Given the description of an element on the screen output the (x, y) to click on. 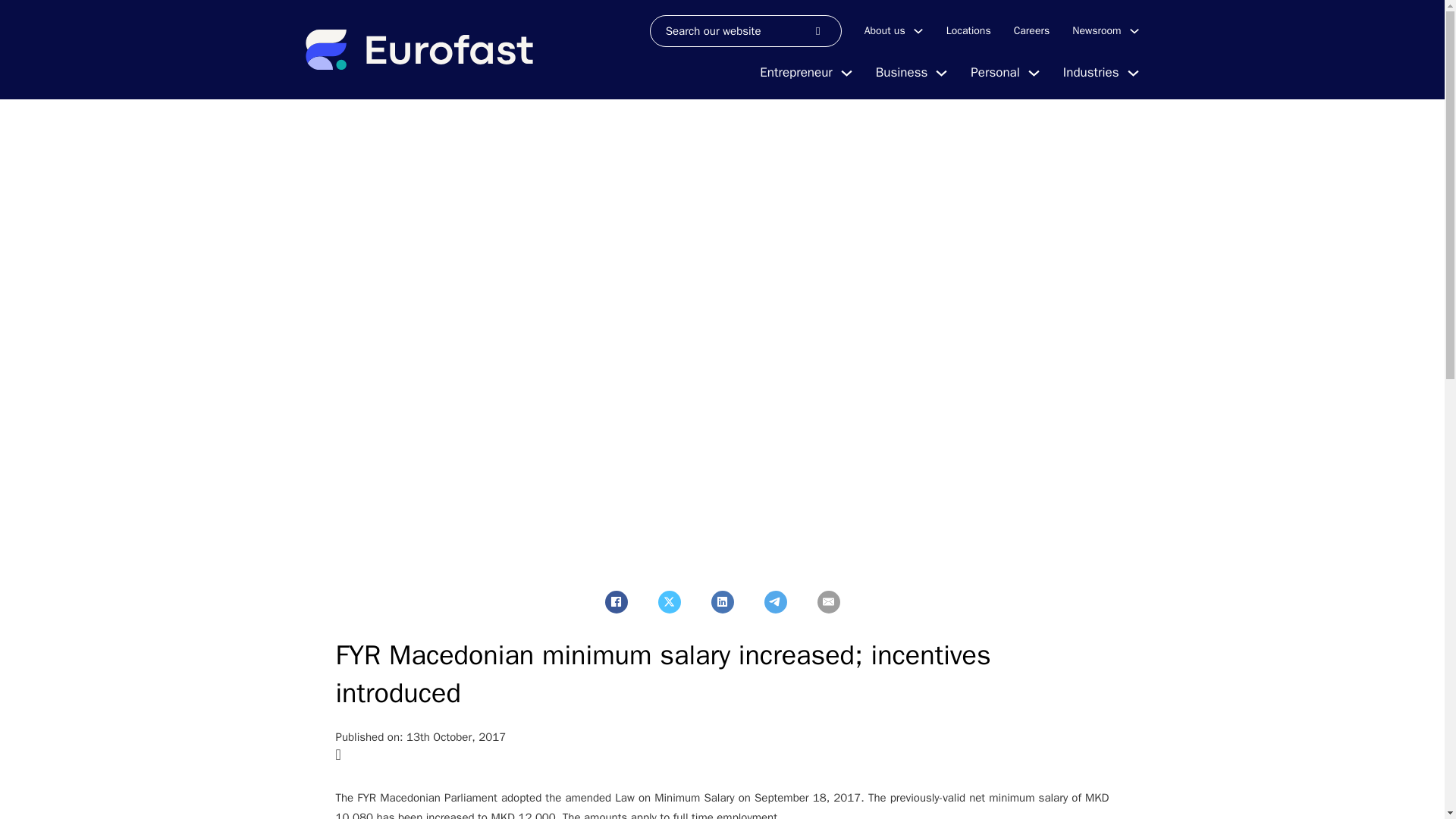
Entrepreneur (795, 73)
About us (884, 31)
Newsroom (1096, 31)
Careers (1031, 31)
Locations (968, 31)
